Given the description of an element on the screen output the (x, y) to click on. 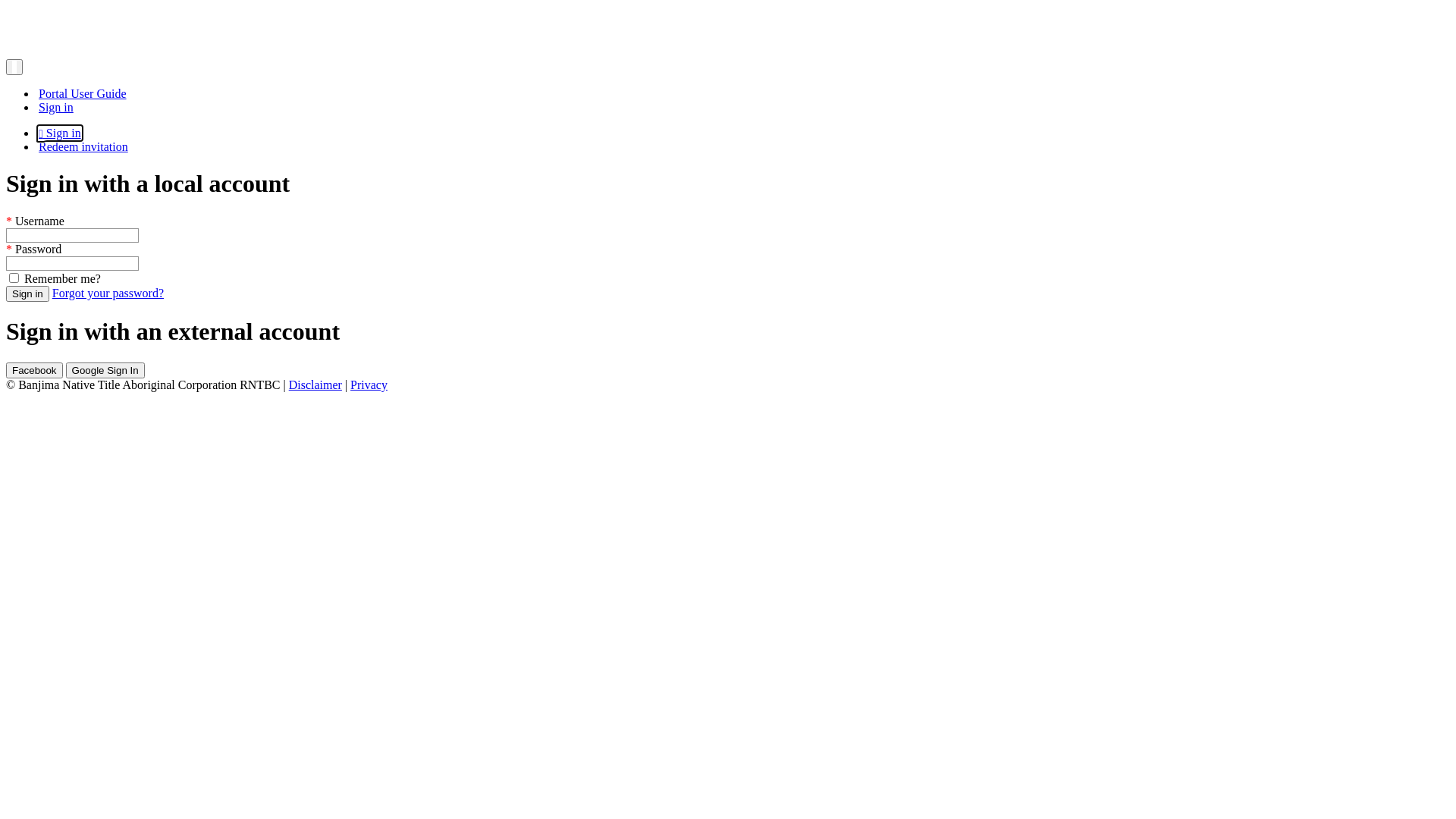
Sign in Element type: text (55, 106)
Privacy Element type: text (368, 384)
Toggle navigation Element type: text (14, 67)
Redeem invitation Element type: text (83, 146)
Google Sign In Element type: text (104, 370)
Sign in Element type: text (59, 132)
Portal User Guide Element type: text (82, 93)
Sign in Element type: text (27, 293)
Disclaimer Element type: text (315, 384)
Facebook Element type: text (34, 370)
Forgot your password? Element type: text (107, 292)
